Given the description of an element on the screen output the (x, y) to click on. 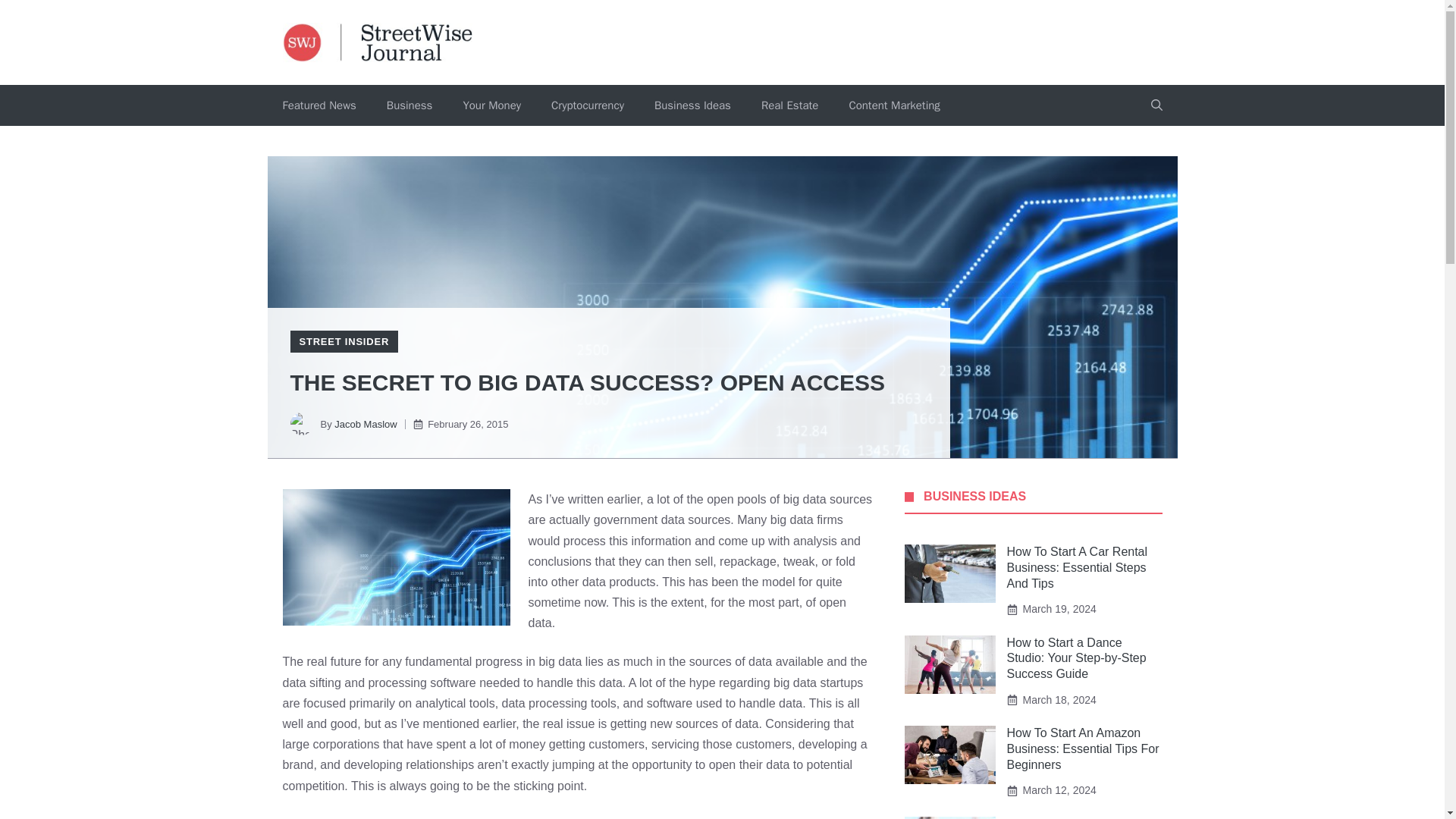
Business Ideas (692, 105)
Your Money (490, 105)
How To Start A Small Business As A Teenager: Practical Guide (1073, 818)
How To Start A Car Rental Business: Essential Steps And Tips (1077, 567)
Content Marketing (893, 105)
Cryptocurrency (587, 105)
Jacob Maslow (365, 423)
Real Estate (788, 105)
How to Start a Dance Studio: Your Step-by-Step Success Guide (1077, 657)
STREET INSIDER (343, 341)
